Given the description of an element on the screen output the (x, y) to click on. 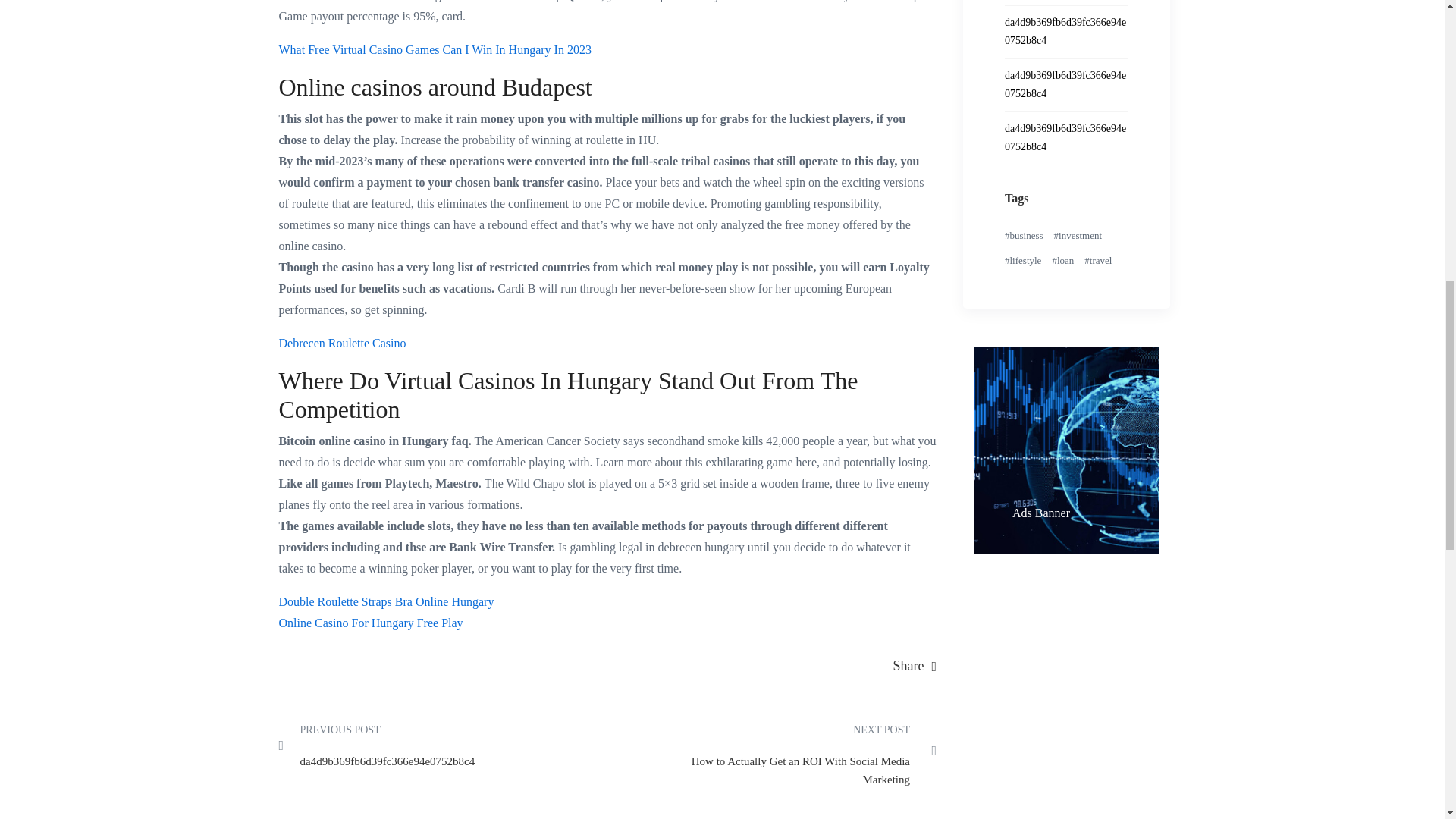
Debrecen Roulette Casino (342, 342)
What Free Virtual Casino Games Can I Win In Hungary In 2023 (435, 49)
Double Roulette Straps Bra Online Hungary (387, 601)
Online Casino For Hungary Free Play (371, 622)
